Given the description of an element on the screen output the (x, y) to click on. 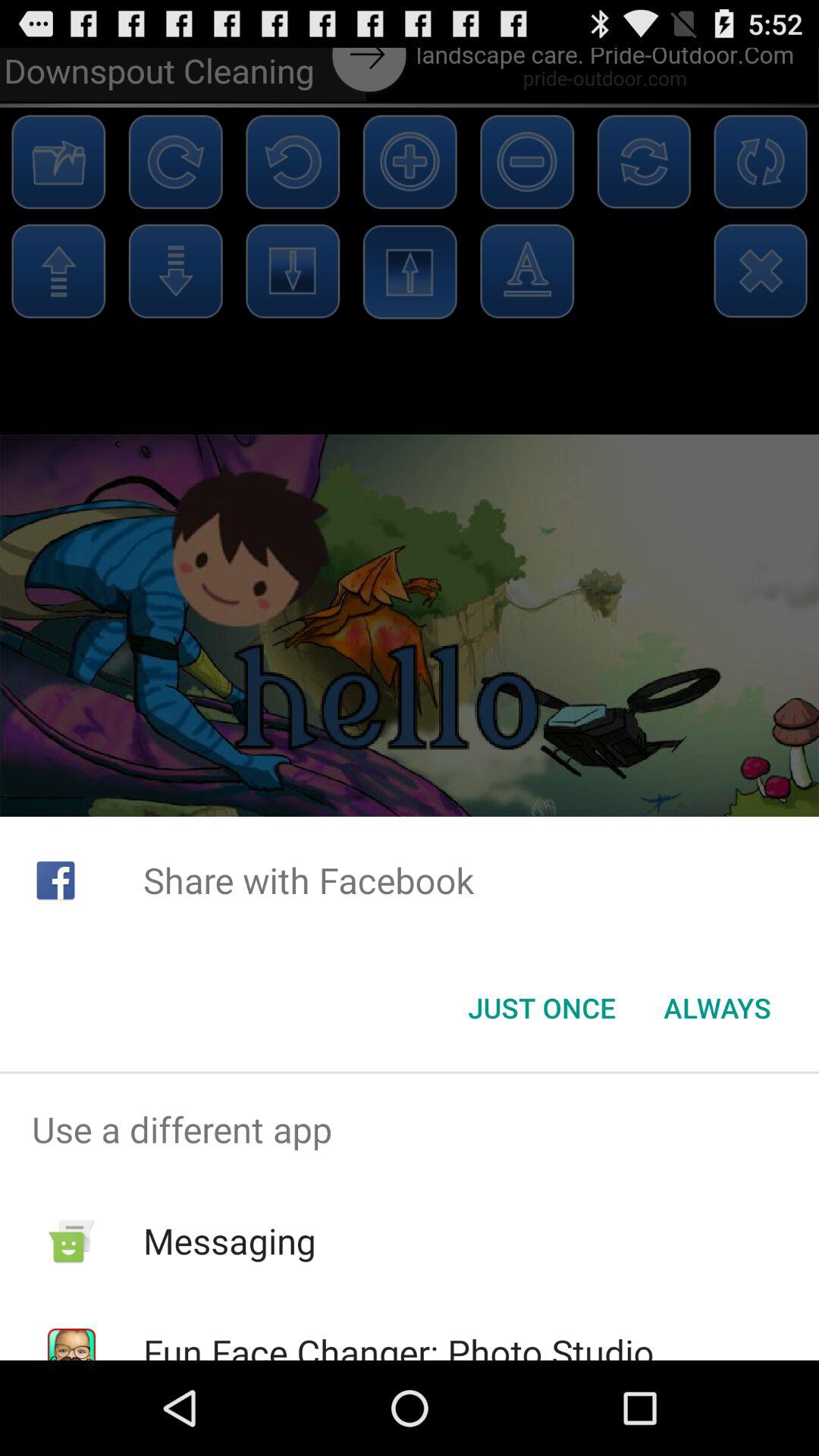
swipe until fun face changer app (398, 1344)
